Given the description of an element on the screen output the (x, y) to click on. 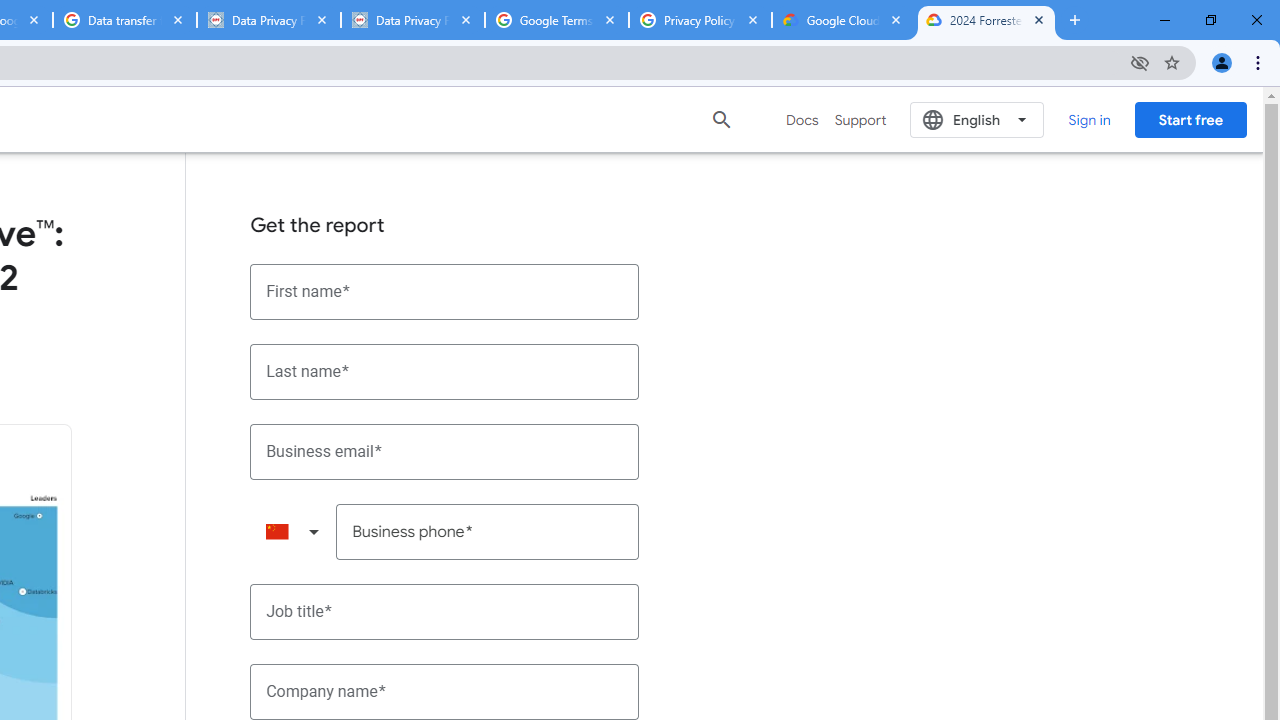
Docs (802, 119)
Business phone* (488, 531)
Support (860, 119)
Data Privacy Framework (268, 20)
First name* (445, 291)
Calling Code (+86) (292, 531)
Last name* (445, 371)
Job title* (445, 611)
